Given the description of an element on the screen output the (x, y) to click on. 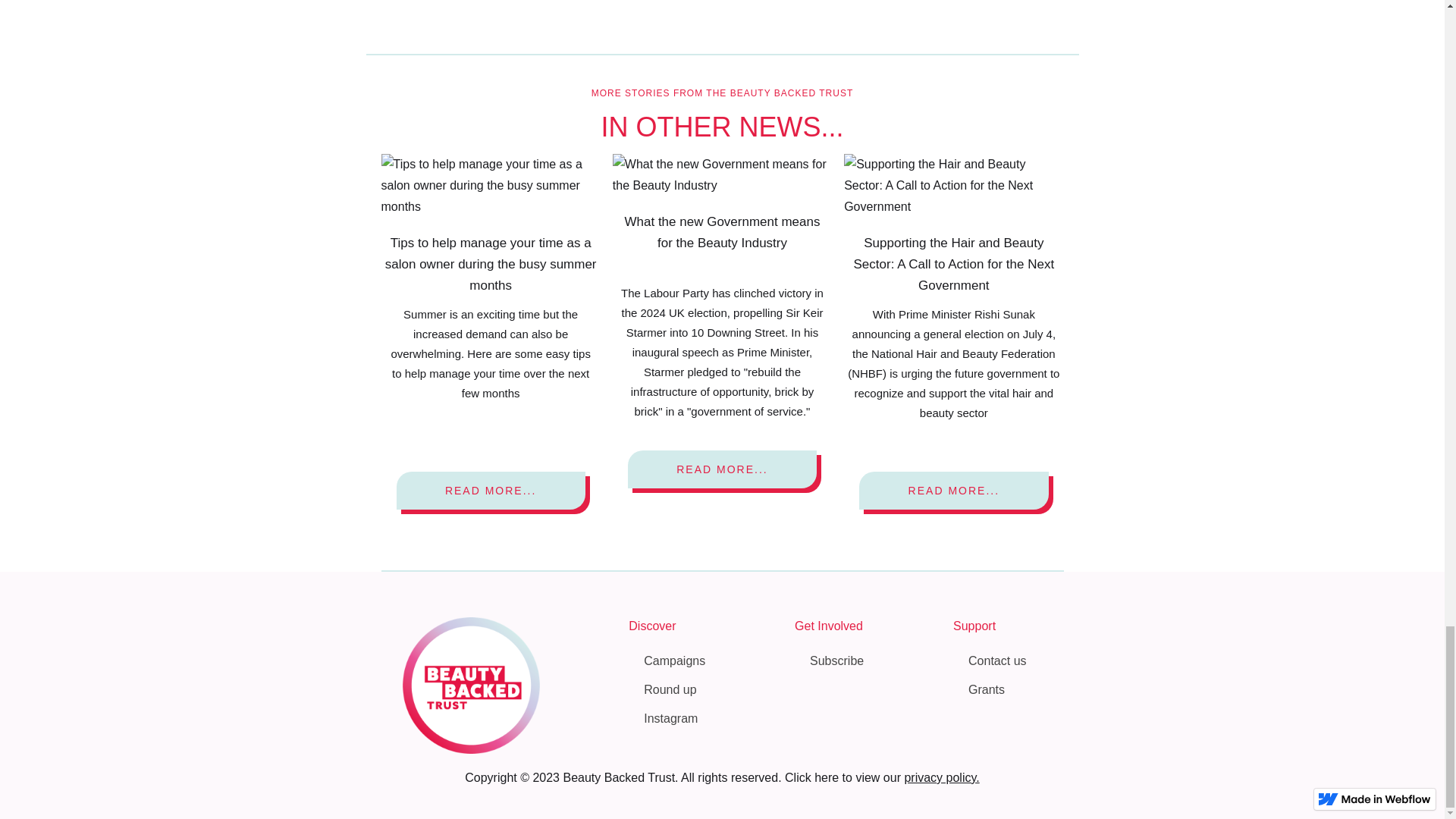
Subscribe (836, 660)
Round up (673, 690)
Contact us (997, 660)
READ MORE... (721, 469)
Campaigns (673, 660)
Instagram (673, 718)
privacy policy. (941, 777)
READ MORE... (490, 490)
READ MORE... (953, 490)
Grants (997, 690)
